Given the description of an element on the screen output the (x, y) to click on. 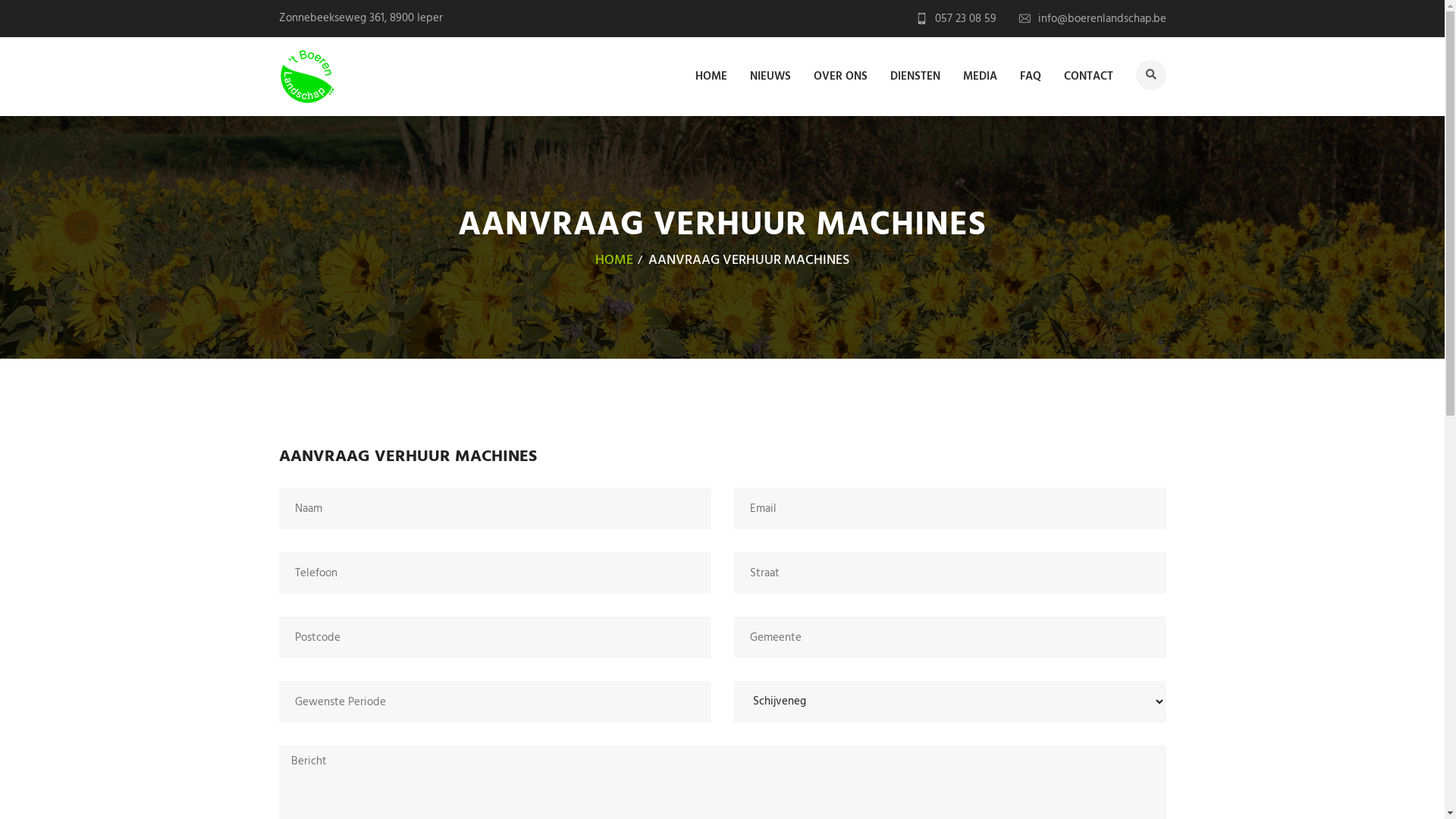
HOME Element type: text (710, 74)
HOME Element type: text (614, 260)
OVER ONS Element type: text (839, 74)
info@boerenlandschap.be Element type: text (1092, 18)
DIENSTEN Element type: text (915, 74)
Arctica Element type: hover (307, 76)
MEDIA Element type: text (980, 74)
FAQ Element type: text (1029, 74)
057 23 08 59 Element type: text (956, 18)
NIEUWS Element type: text (769, 74)
CONTACT Element type: text (1087, 74)
